Given the description of an element on the screen output the (x, y) to click on. 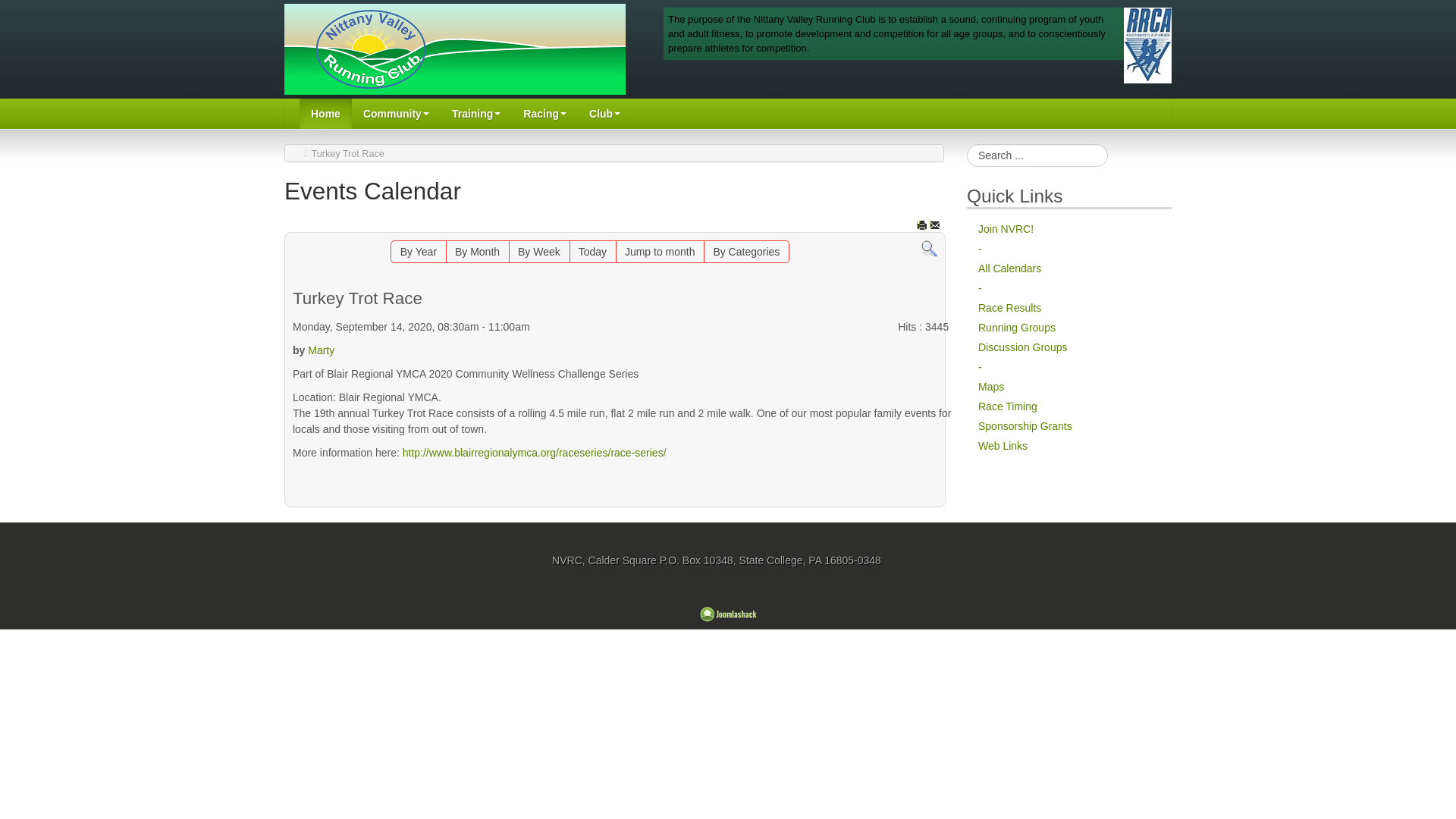
By Year (418, 250)
Home (325, 113)
Today (592, 250)
Jump to month (659, 250)
Search ... (1037, 155)
By Categories (746, 250)
Community (396, 113)
By Month (476, 250)
By Week (538, 250)
Search (929, 248)
